Given the description of an element on the screen output the (x, y) to click on. 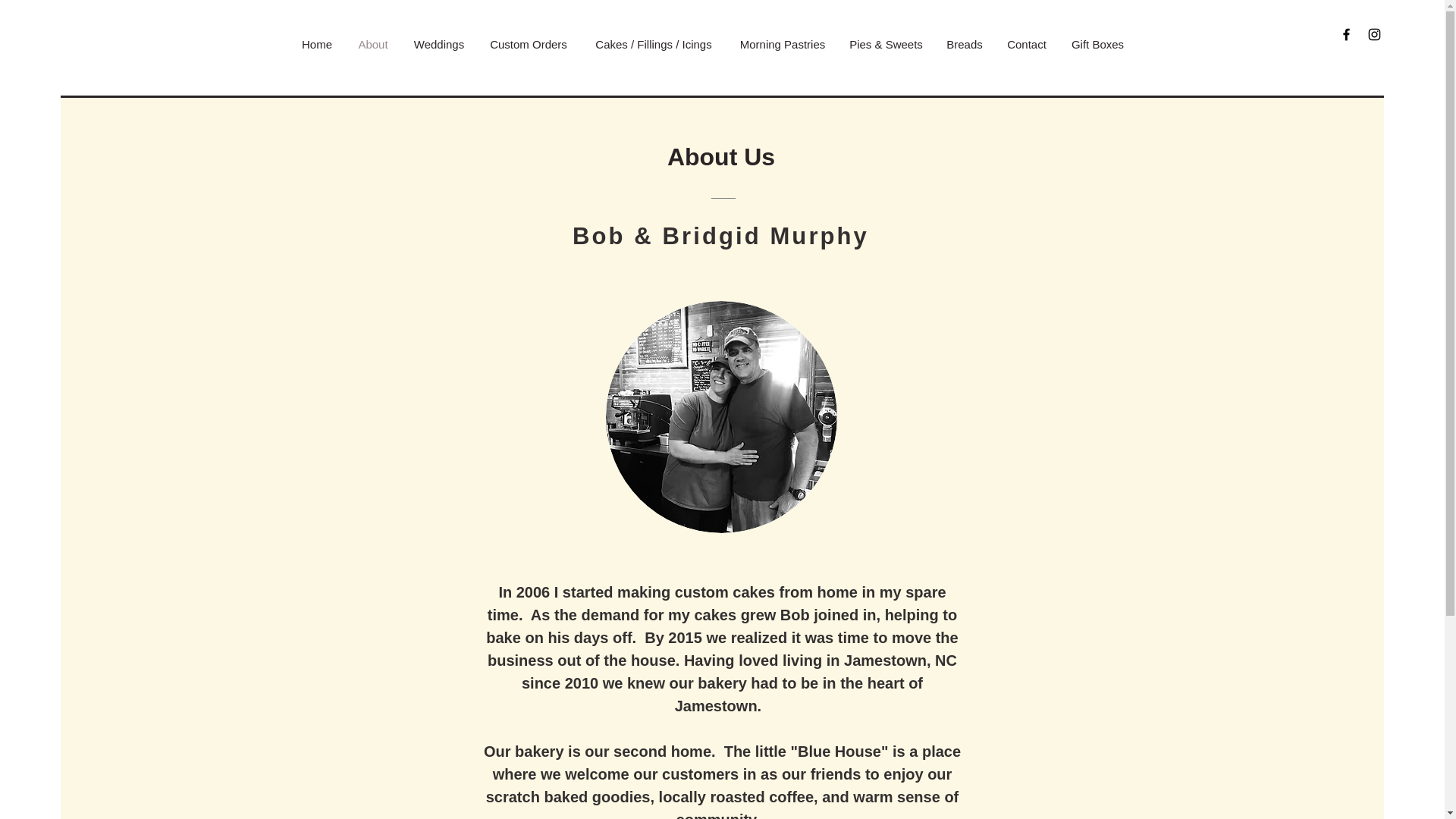
Contact (1026, 44)
Weddings (438, 44)
Morning Pastries (783, 44)
Gift Boxes (1096, 44)
Breads (964, 44)
Custom Orders (528, 44)
Home (316, 44)
